Given the description of an element on the screen output the (x, y) to click on. 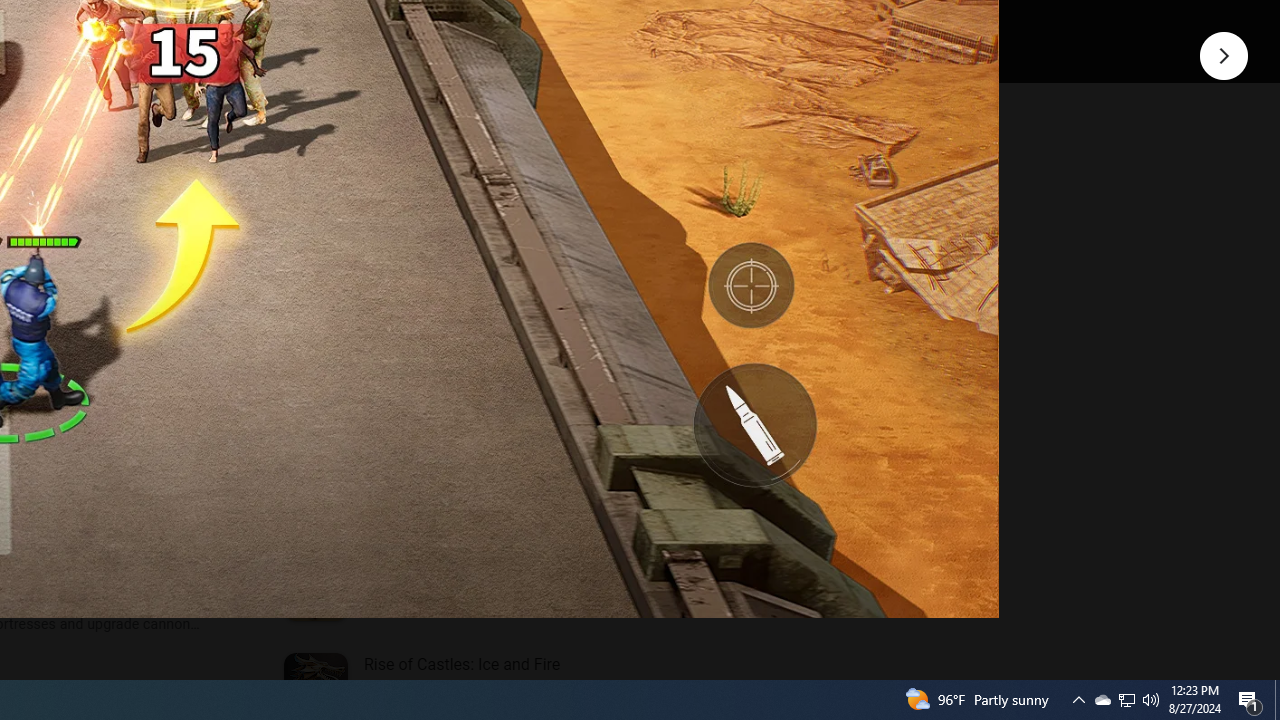
Play trailer (587, 24)
Expand (441, 155)
See more information on Similar games (455, 229)
Scroll Next (212, 272)
